Given the description of an element on the screen output the (x, y) to click on. 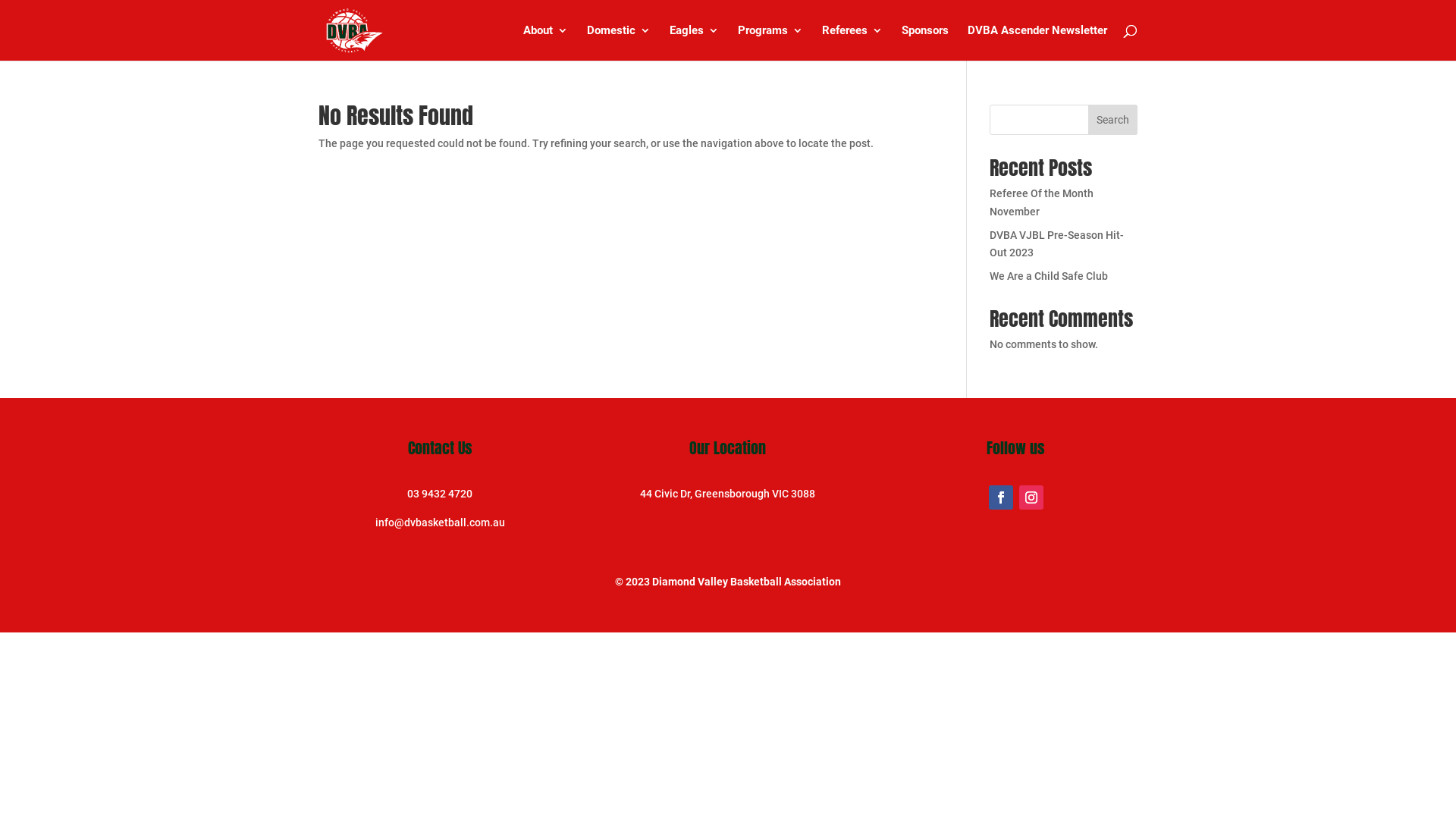
Programs Element type: text (770, 42)
Eagles Element type: text (693, 42)
Referee Of the Month November Element type: text (1041, 202)
We Are a Child Safe Club Element type: text (1048, 275)
DVBA Ascender Newsletter Element type: text (1037, 42)
Search Element type: text (1112, 119)
info@dvbasketball.com.au Element type: text (440, 522)
Domestic Element type: text (618, 42)
Follow on Facebook Element type: hover (1000, 497)
DVBA VJBL Pre-Season Hit-Out 2023 Element type: text (1056, 244)
Follow on Instagram Element type: hover (1031, 497)
Referees Element type: text (852, 42)
Sponsors Element type: text (924, 42)
About Element type: text (545, 42)
